Given the description of an element on the screen output the (x, y) to click on. 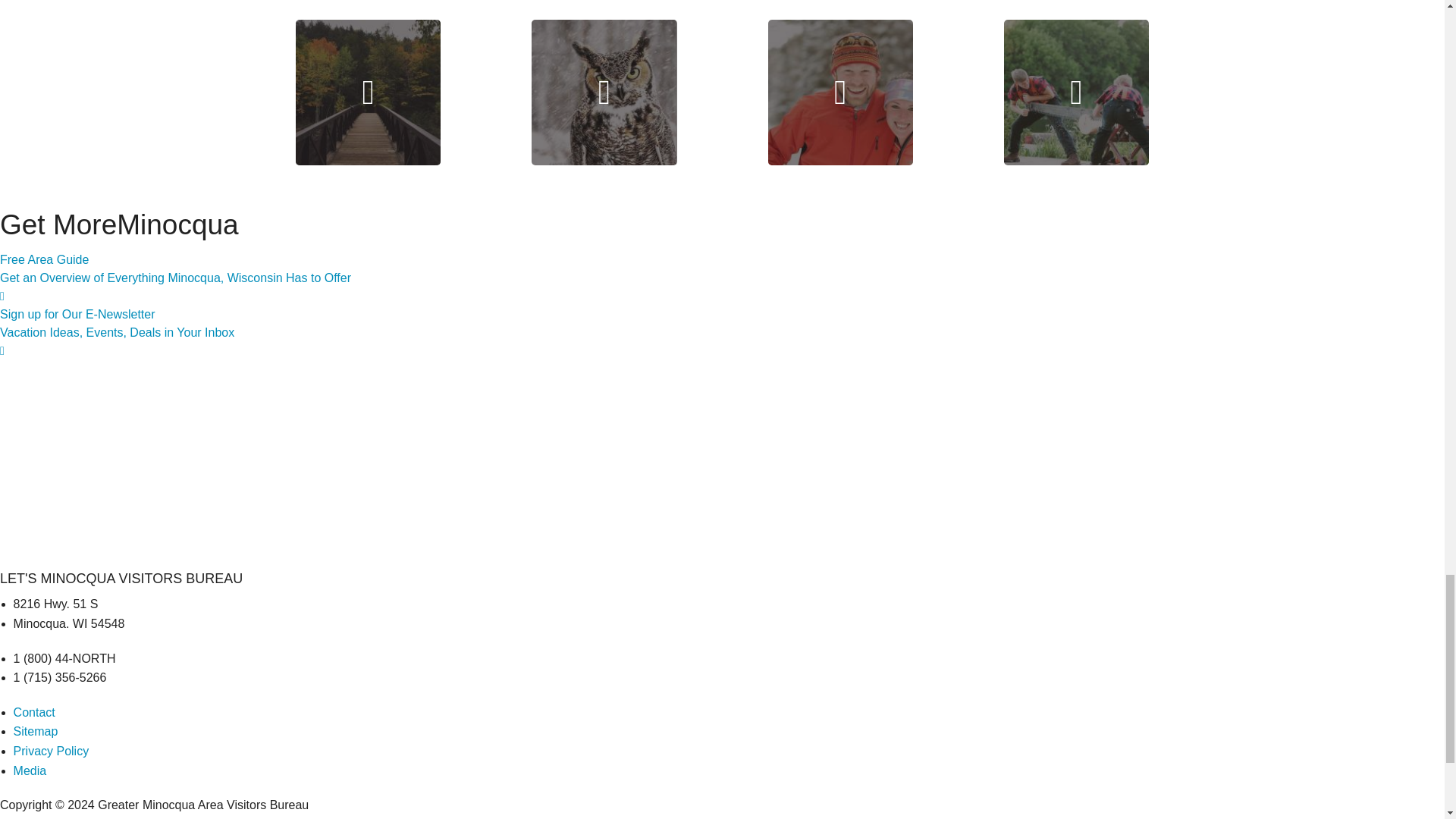
Visit our instagram page (604, 91)
Sitemap (35, 730)
Privacy Policy (50, 750)
Visit our twitter page (839, 91)
Media (29, 770)
Visit our youtube page (368, 91)
Visit our facebook page (1076, 91)
Contact (34, 712)
